Given the description of an element on the screen output the (x, y) to click on. 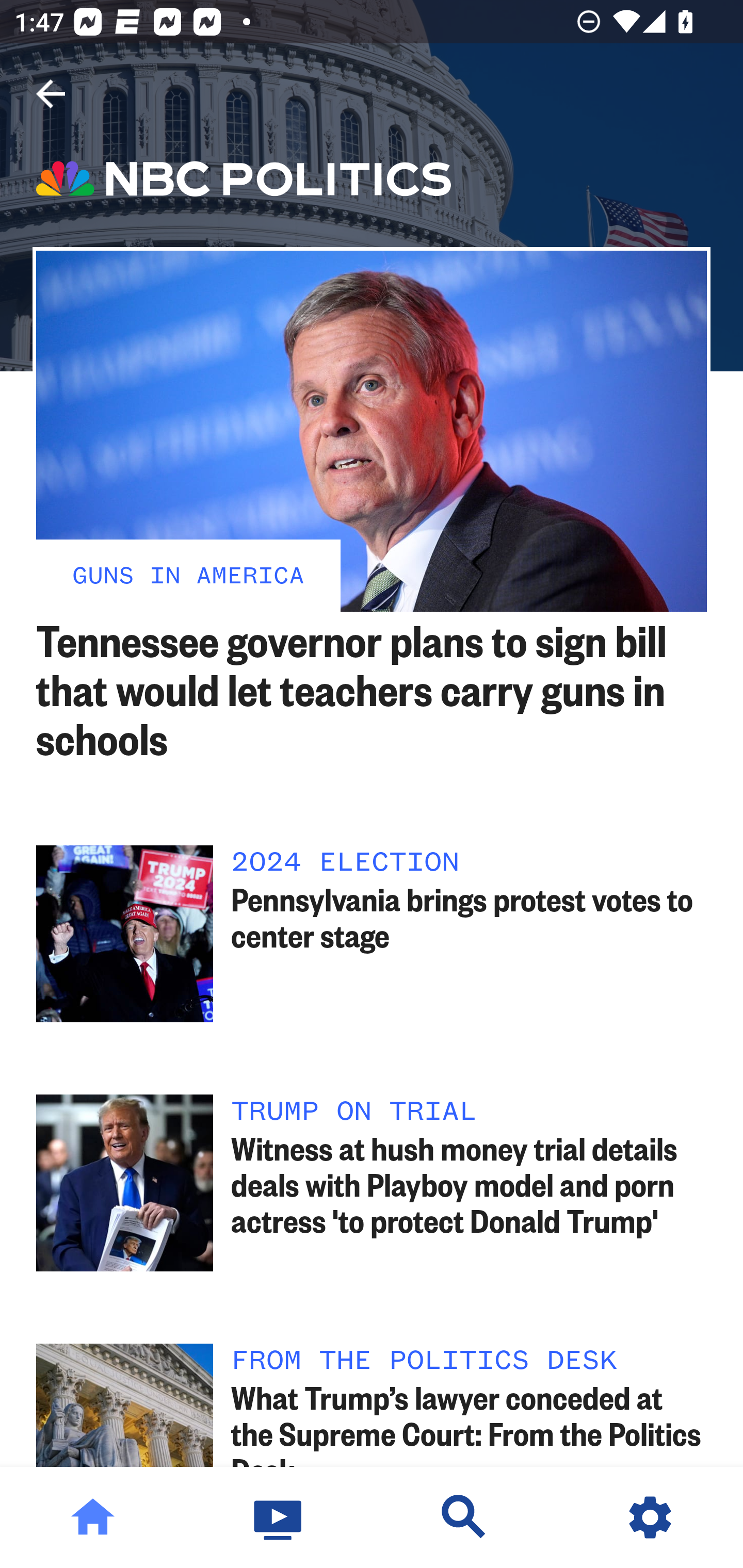
Navigate up (50, 93)
Watch (278, 1517)
Discover (464, 1517)
Settings (650, 1517)
